Given the description of an element on the screen output the (x, y) to click on. 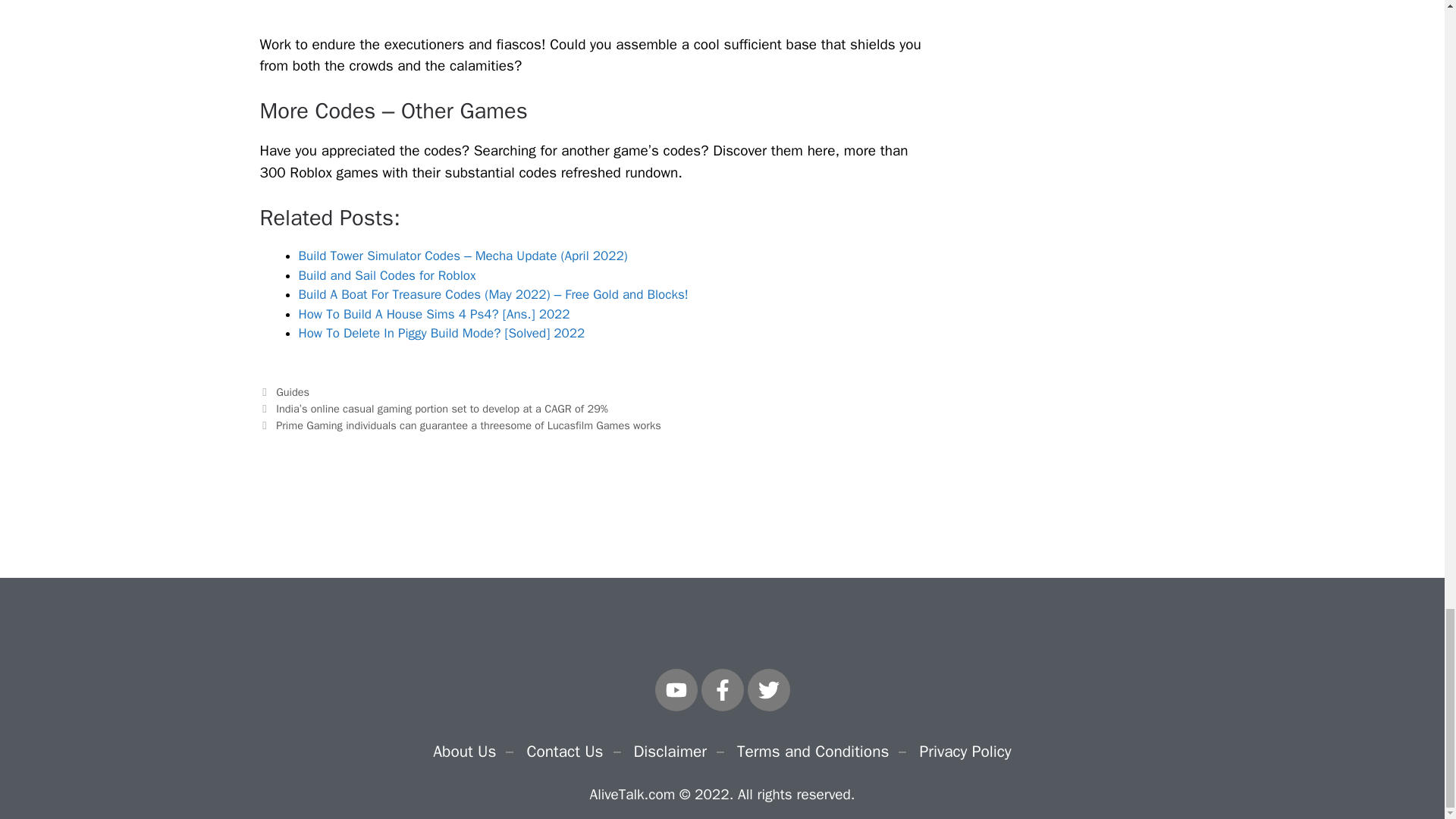
Contact Us (564, 751)
Previous (433, 408)
Guides (292, 391)
About Us (464, 751)
Build and Sail Codes for Roblox (387, 275)
Disclaimer (670, 751)
Next (460, 425)
